Given the description of an element on the screen output the (x, y) to click on. 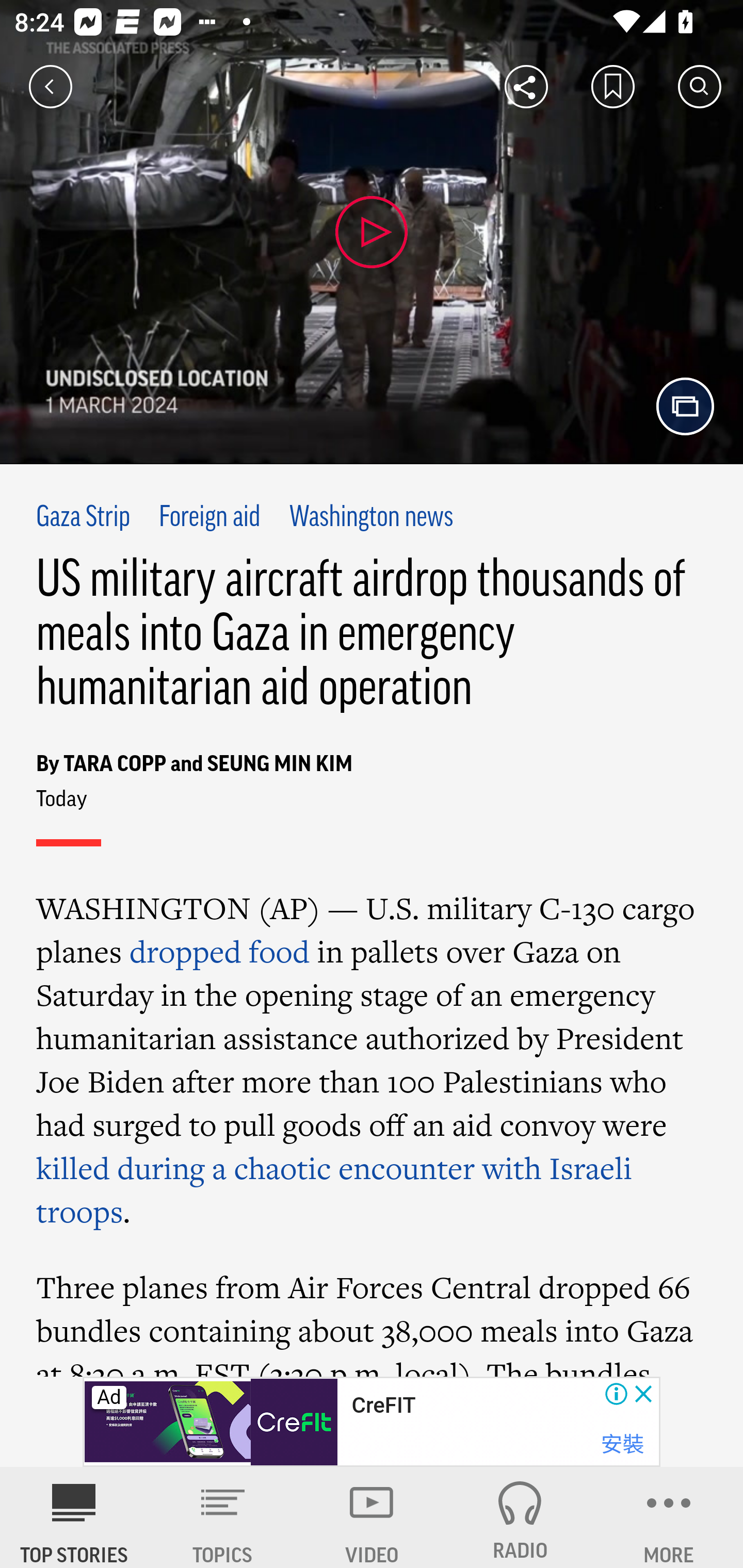
Gaza Strip (83, 518)
Foreign aid (208, 518)
Washington news (371, 518)
dropped food (218, 951)
CreFIT (382, 1405)
安裝 (621, 1444)
AP News TOP STORIES (74, 1517)
TOPICS (222, 1517)
VIDEO (371, 1517)
RADIO (519, 1517)
MORE (668, 1517)
